Given the description of an element on the screen output the (x, y) to click on. 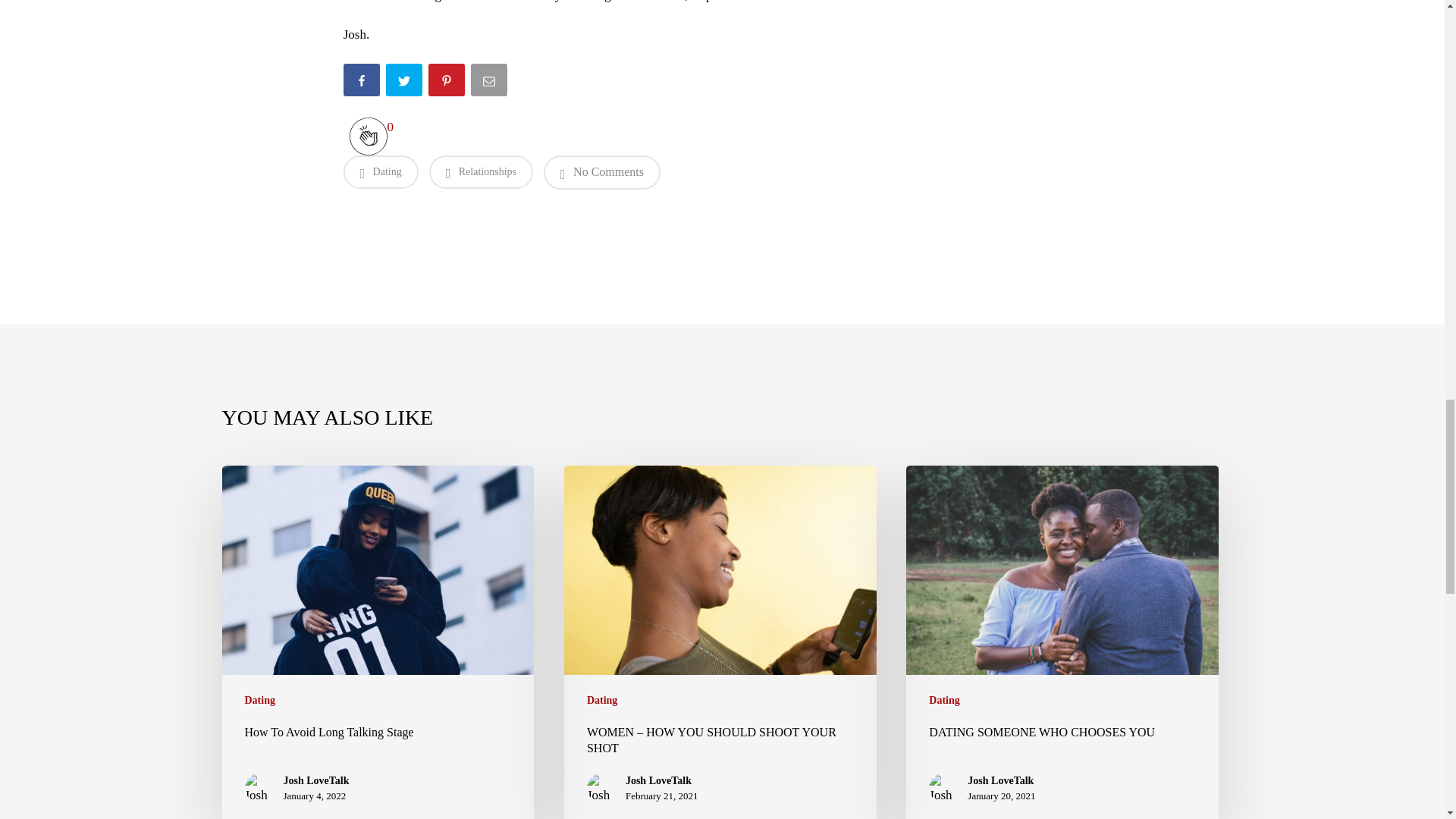
Relationships (480, 172)
Dating (259, 700)
Dating (601, 700)
Tweet (405, 90)
Pin (447, 90)
No Comments (602, 172)
Dating (379, 172)
0 (367, 136)
Josh LoveTalk (316, 781)
Share on Facebook (361, 90)
Email (489, 90)
